Given the description of an element on the screen output the (x, y) to click on. 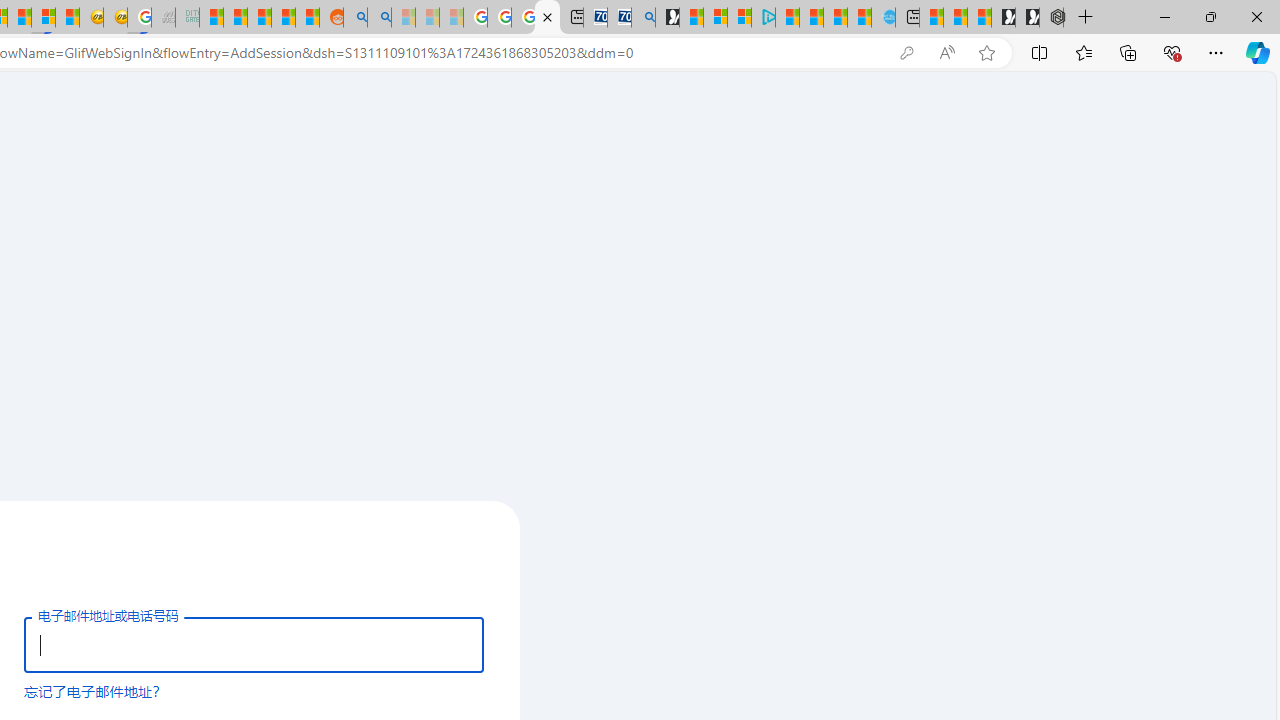
Manage your passwords (906, 53)
Student Loan Update: Forgiveness Program Ends This Month (283, 17)
Bing Real Estate - Home sales and rental listings (643, 17)
